Given the description of an element on the screen output the (x, y) to click on. 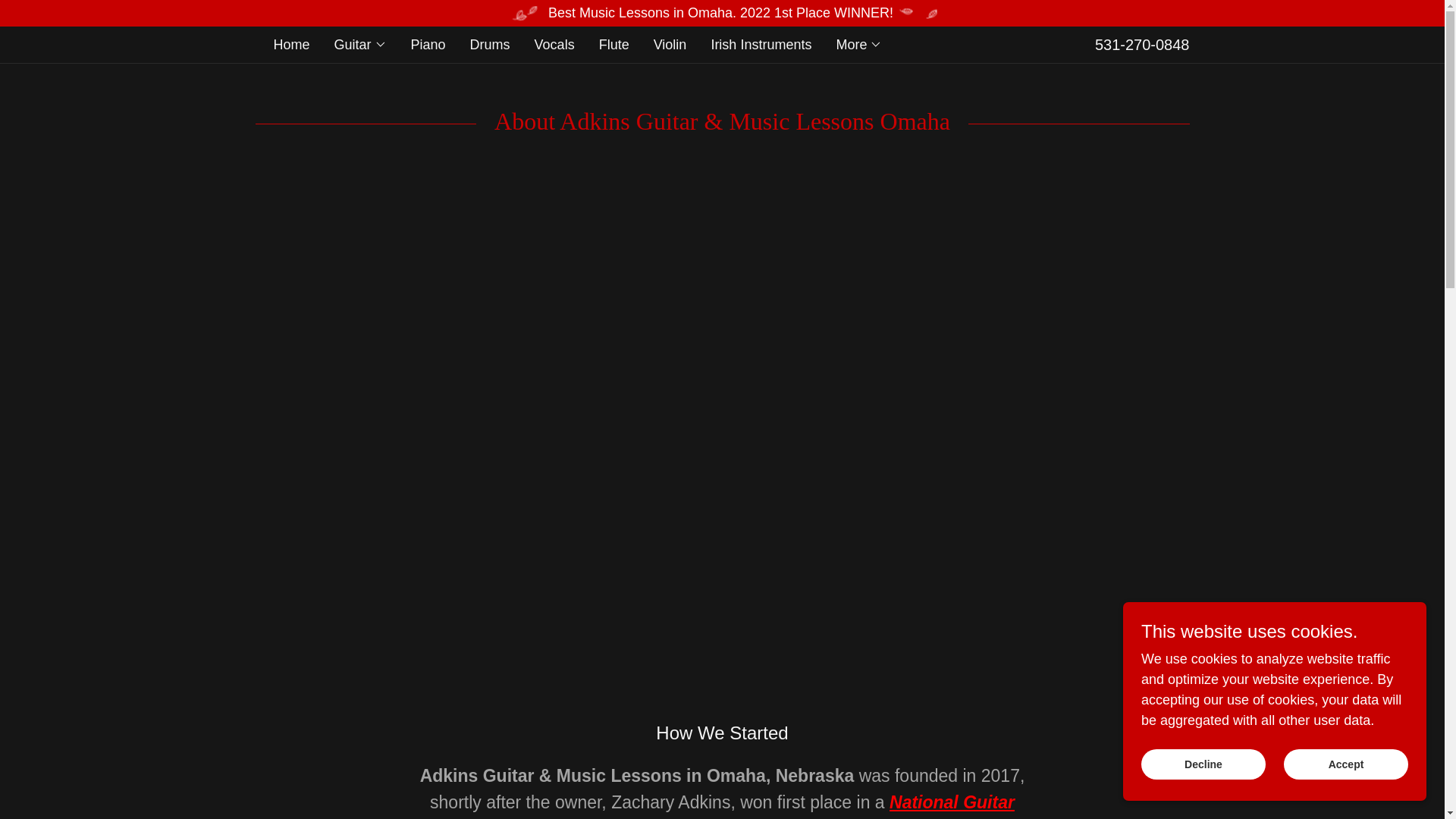
Irish Instruments (760, 44)
Flute (613, 44)
More (858, 45)
Guitar (360, 45)
Piano (427, 44)
Home (290, 44)
Drums (490, 44)
Vocals (554, 44)
531-270-0848 (1141, 44)
Violin (670, 44)
